Given the description of an element on the screen output the (x, y) to click on. 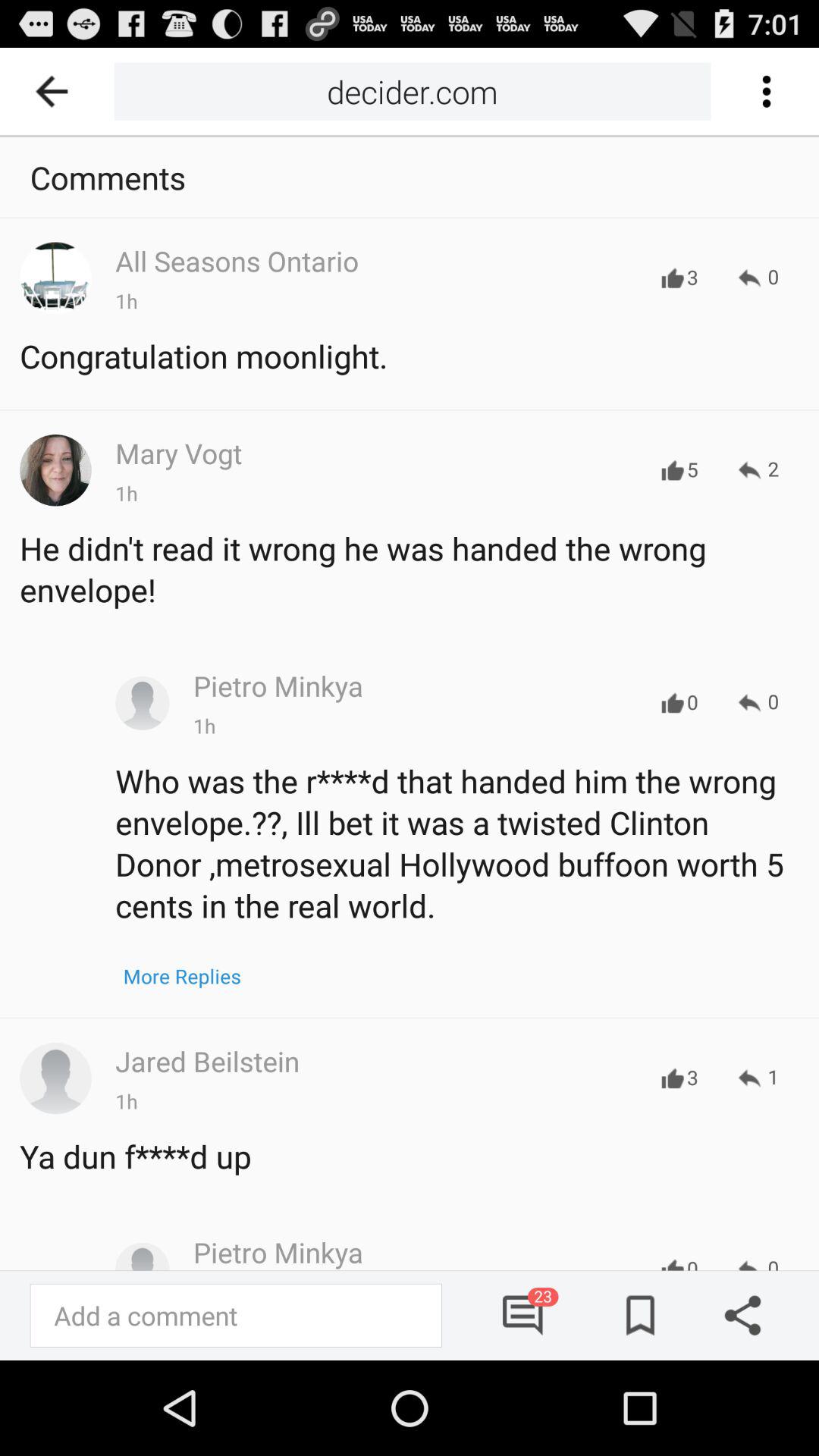
the option is used to share to others (737, 1315)
